Given the description of an element on the screen output the (x, y) to click on. 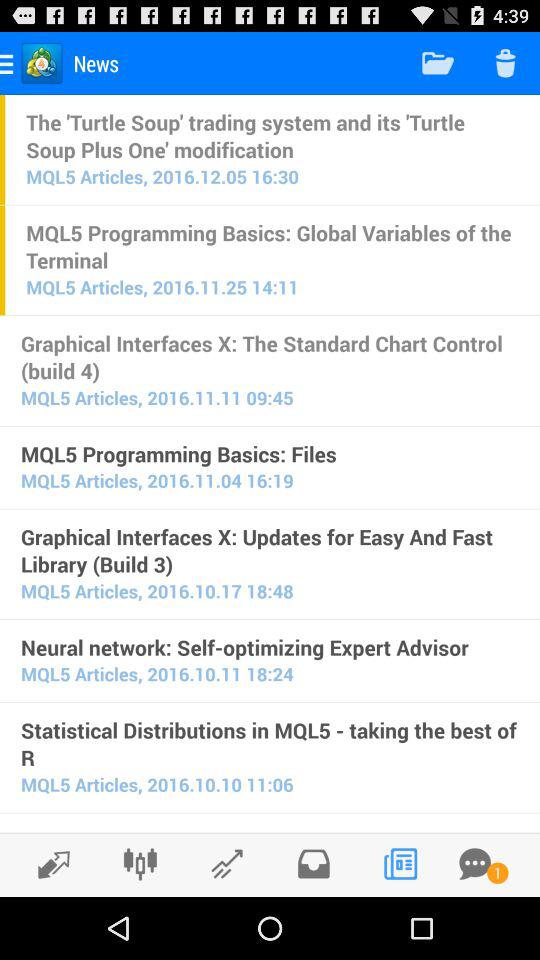
open neural network self (270, 647)
